Given the description of an element on the screen output the (x, y) to click on. 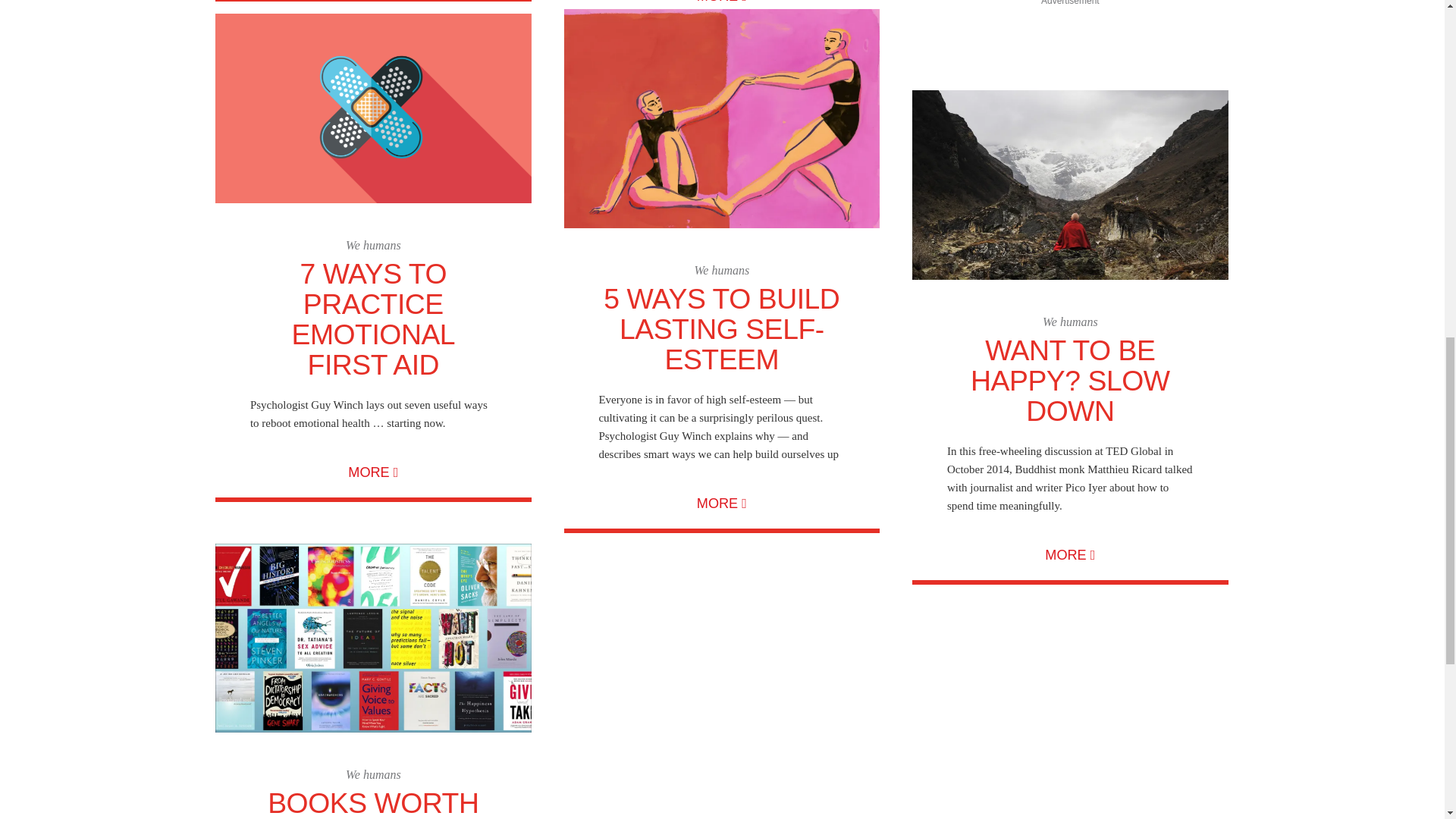
Permalink to 5 ways to build lasting self-esteem (721, 118)
We humans (373, 244)
3rd party ad content (1069, 108)
We humans (721, 270)
5 WAYS TO BUILD LASTING SELF-ESTEEM (722, 328)
